Given the description of an element on the screen output the (x, y) to click on. 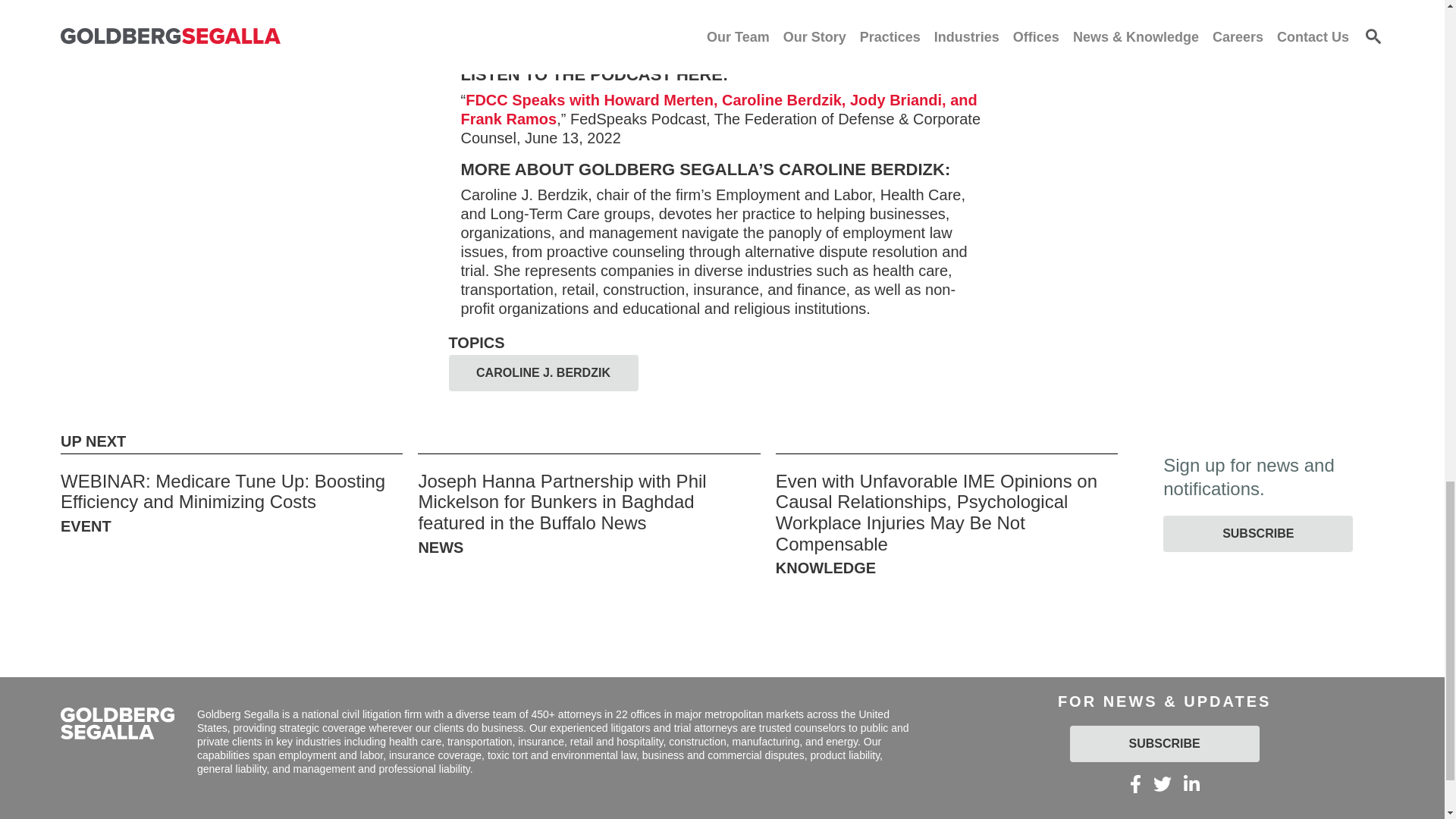
CAROLINE J. BERDZIK (543, 372)
SUBSCRIBE (1164, 743)
SUBSCRIBE (1257, 533)
here (968, 43)
